Given the description of an element on the screen output the (x, y) to click on. 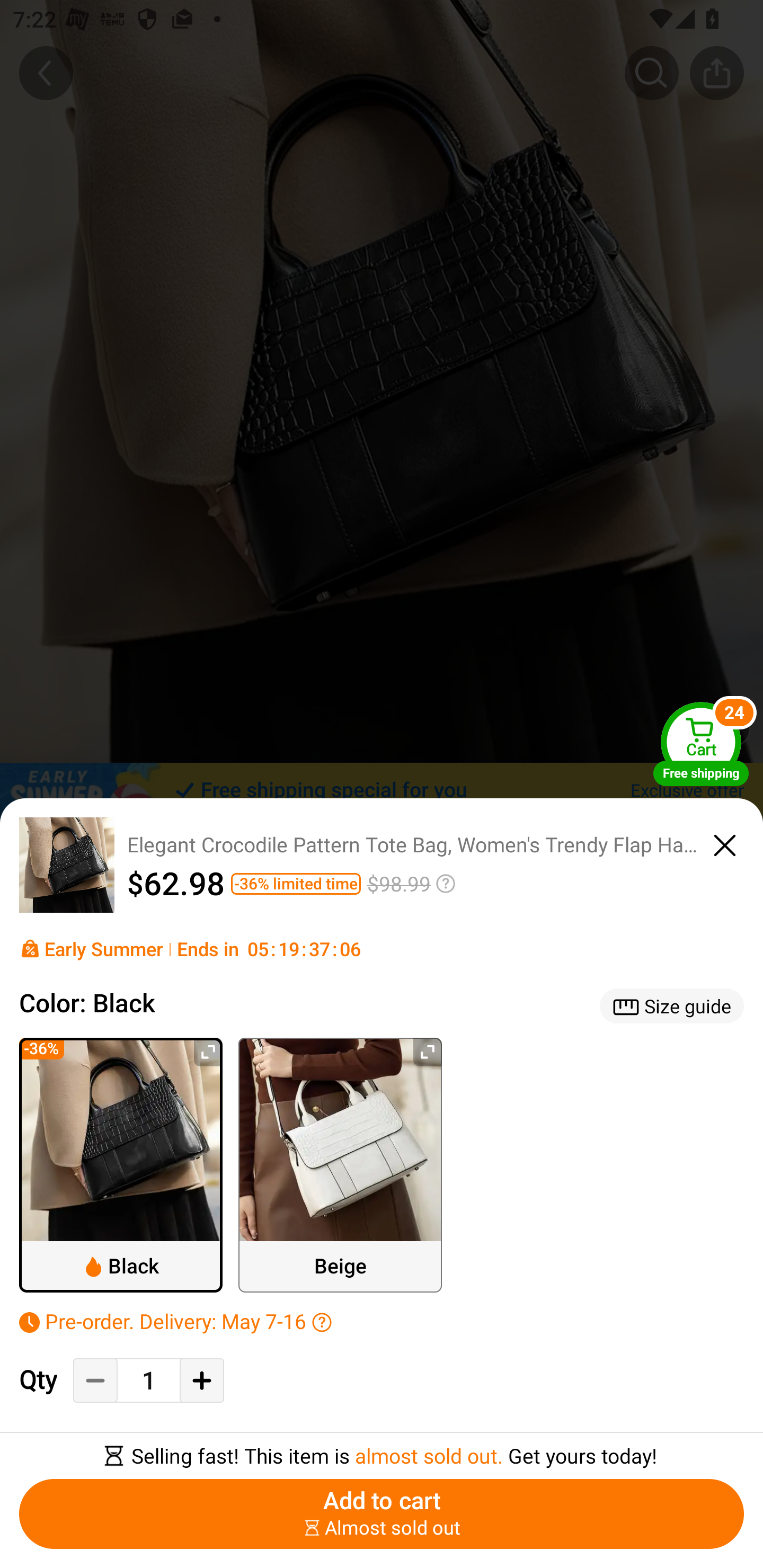
Cart Free shipping Cart (701, 743)
close (724, 842)
￼Size guide (671, 1005)
Black ￼Black (120, 1165)
Beige (339, 1165)
  Pre-order. Delivery: May 7-16   (381, 1320)
Decrease Quantity Button (95, 1380)
Add Quantity Button (201, 1380)
1 (148, 1381)
Add to cart ￼￼Almost sold out (381, 1513)
